Given the description of an element on the screen output the (x, y) to click on. 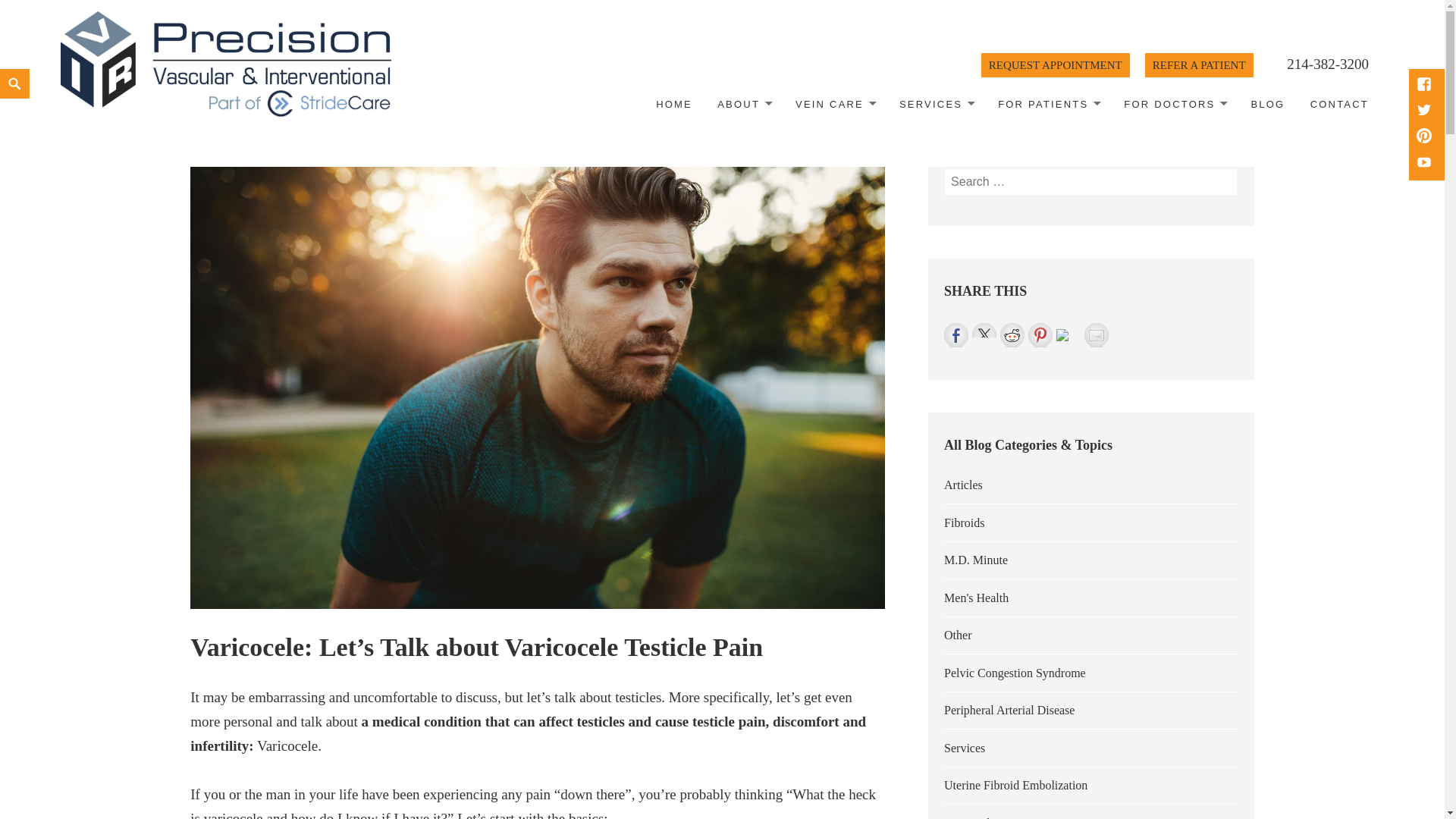
REQUEST APPOINTMENT (1055, 64)
Pin it with Pinterest (1039, 334)
Share on Facebook (955, 334)
HOME (674, 104)
Share on Linkedin (1062, 335)
Share on Reddit (1012, 334)
VEIN CARE (834, 104)
ABOUT (743, 104)
